Given the description of an element on the screen output the (x, y) to click on. 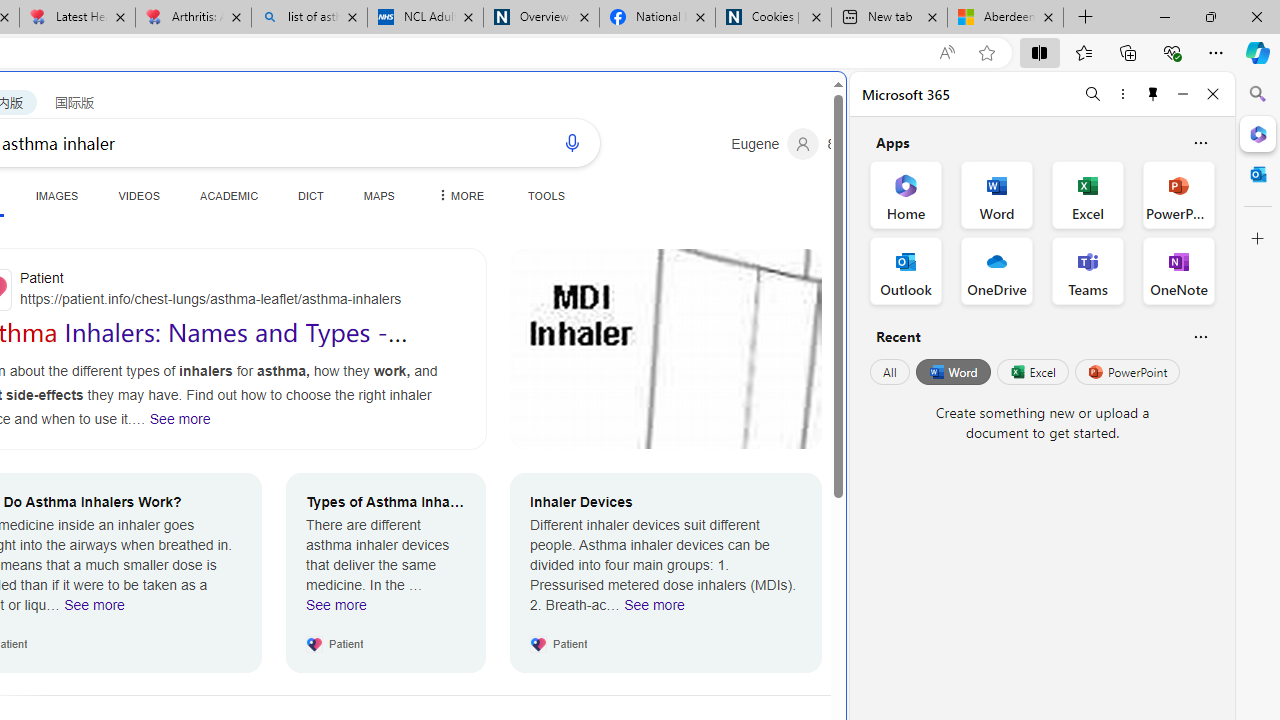
All (890, 372)
Word Office App (996, 194)
OneDrive Office App (996, 270)
Search using voice (572, 142)
Dropdown Menu (458, 195)
Excel Office App (1087, 194)
MAPS (378, 195)
Excel (1031, 372)
